Given the description of an element on the screen output the (x, y) to click on. 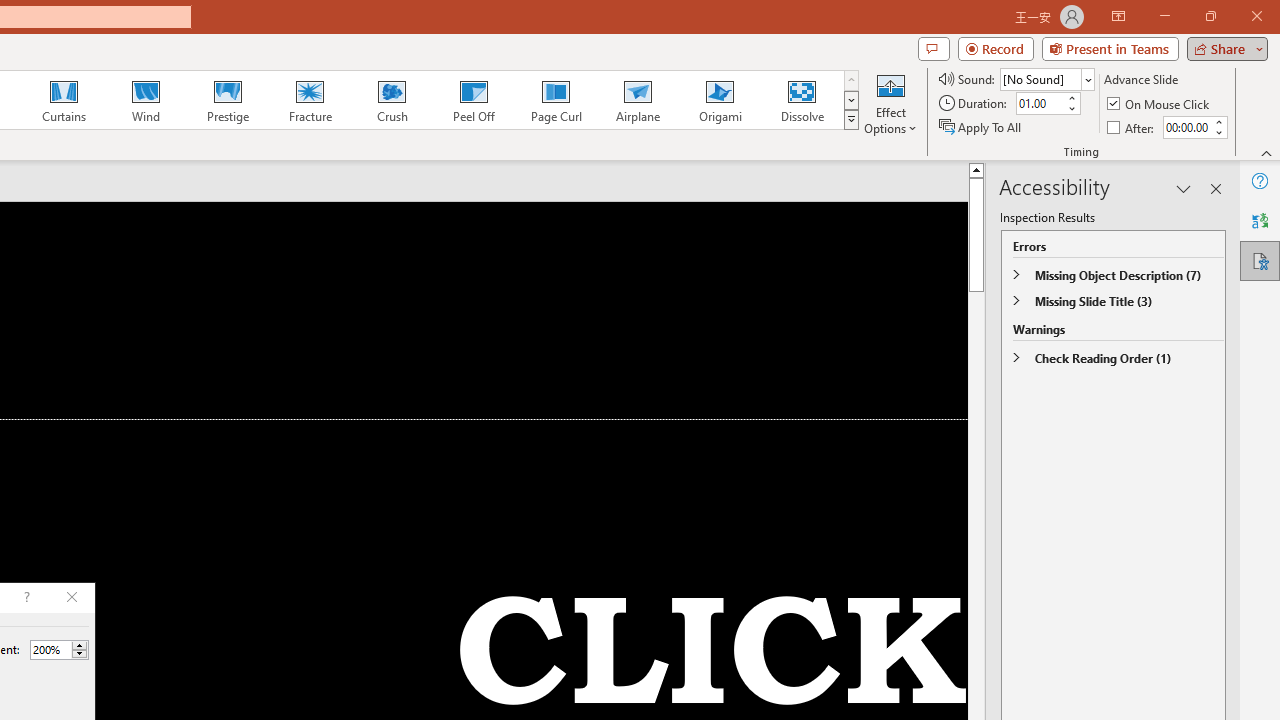
Percent (59, 650)
After (1186, 127)
Duration (1039, 103)
Origami (719, 100)
Effect Options (890, 102)
Crush (391, 100)
Apply To All (981, 126)
Page Curl (555, 100)
